Given the description of an element on the screen output the (x, y) to click on. 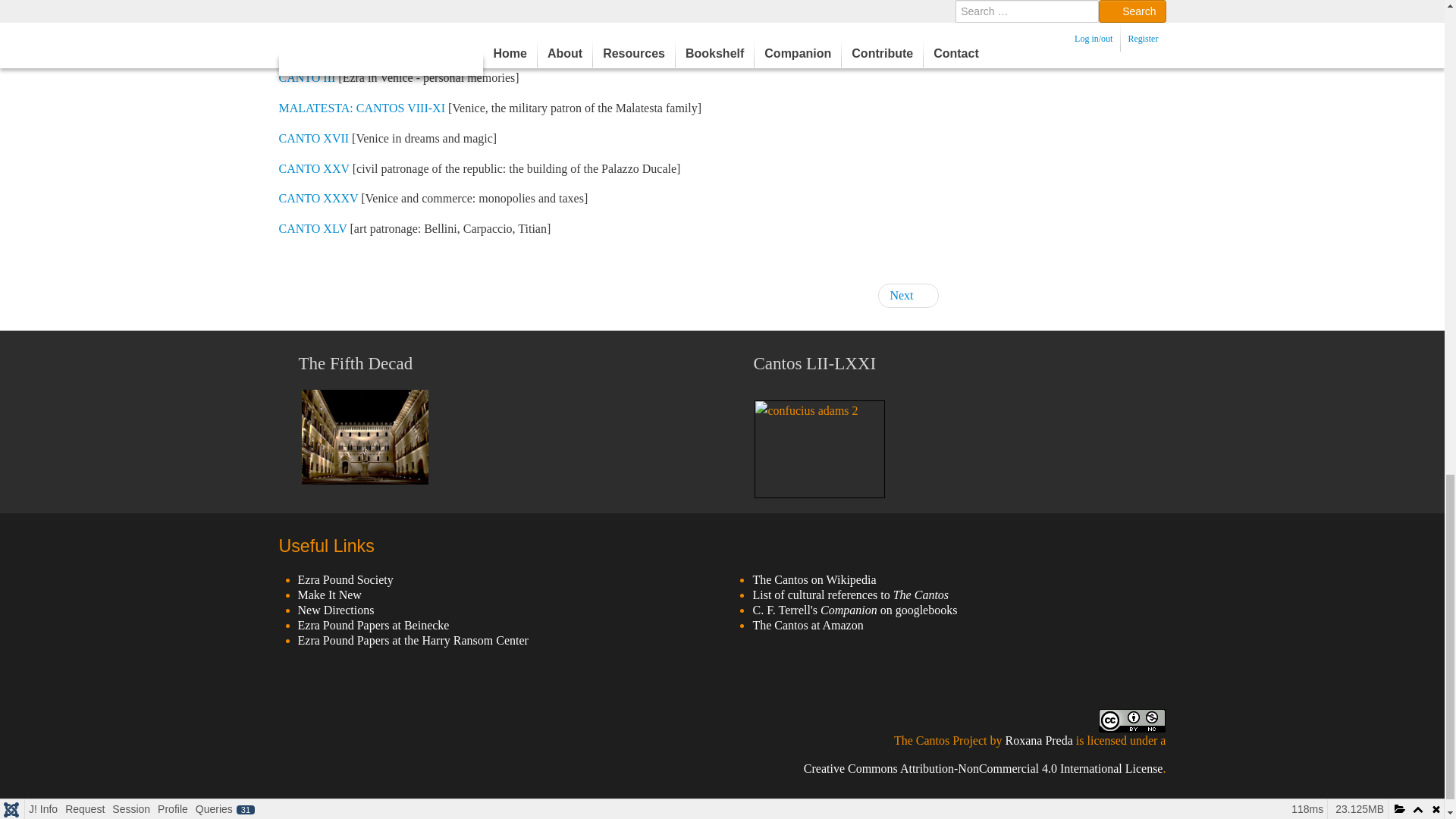
Readings (907, 295)
